Given the description of an element on the screen output the (x, y) to click on. 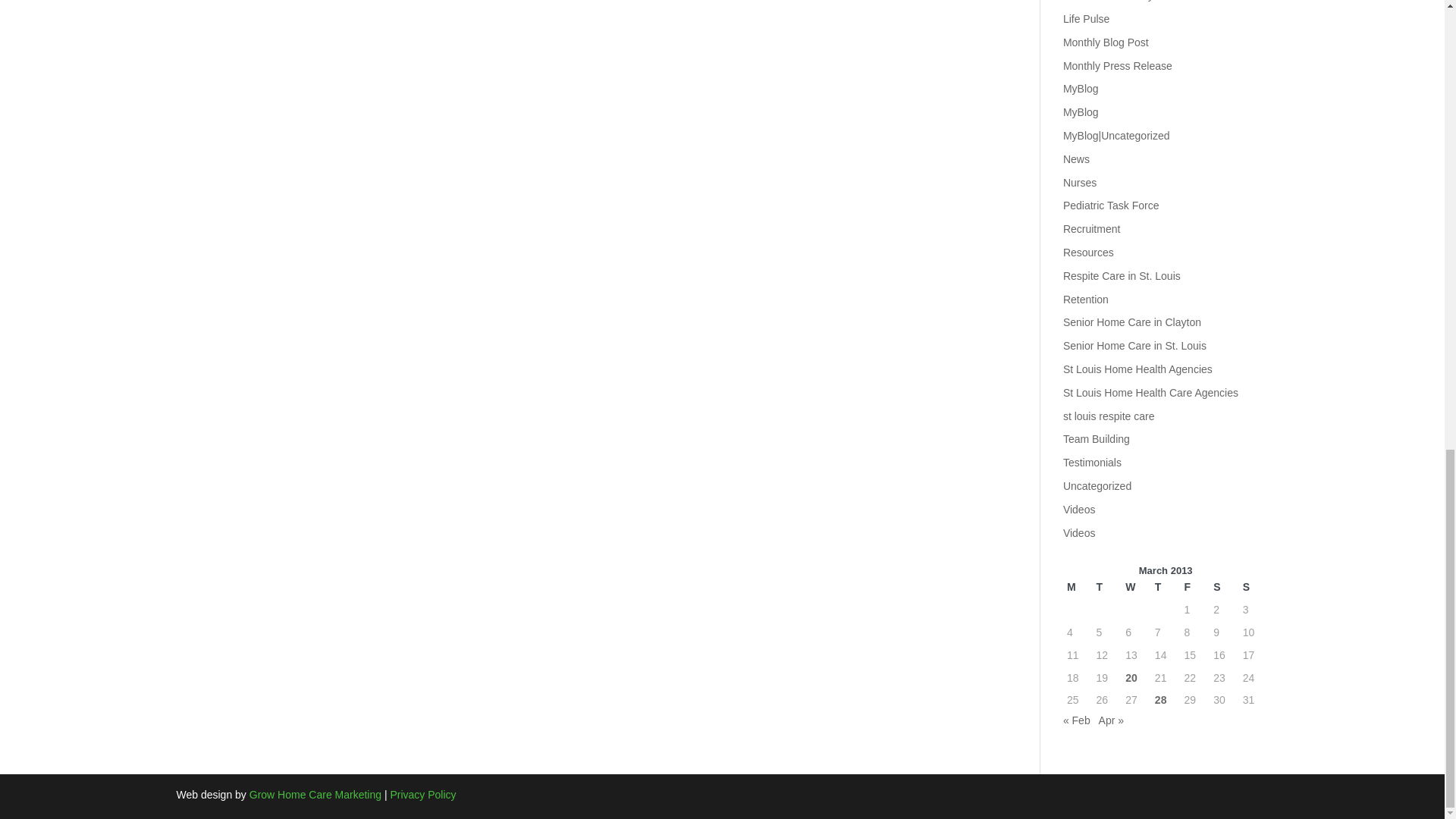
Tuesday (1107, 587)
Thursday (1165, 587)
Friday (1194, 587)
Saturday (1224, 587)
Monday (1077, 587)
Sunday (1253, 587)
Wednesday (1136, 587)
